Given the description of an element on the screen output the (x, y) to click on. 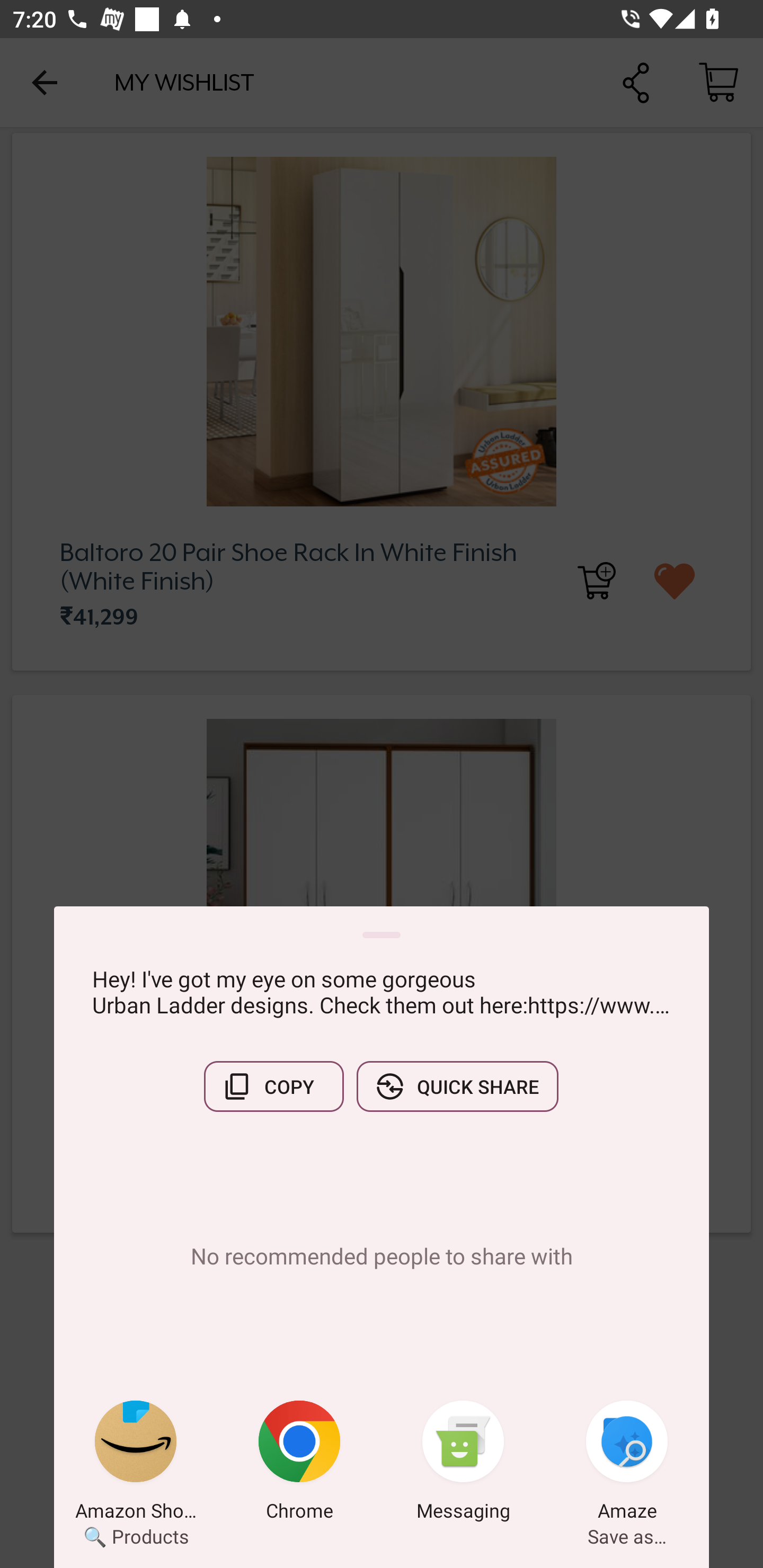
COPY (273, 1086)
QUICK SHARE (457, 1086)
Amazon Shopping 🔍 Products (135, 1463)
Chrome (299, 1463)
Messaging (463, 1463)
Amaze Save as… (626, 1463)
